Given the description of an element on the screen output the (x, y) to click on. 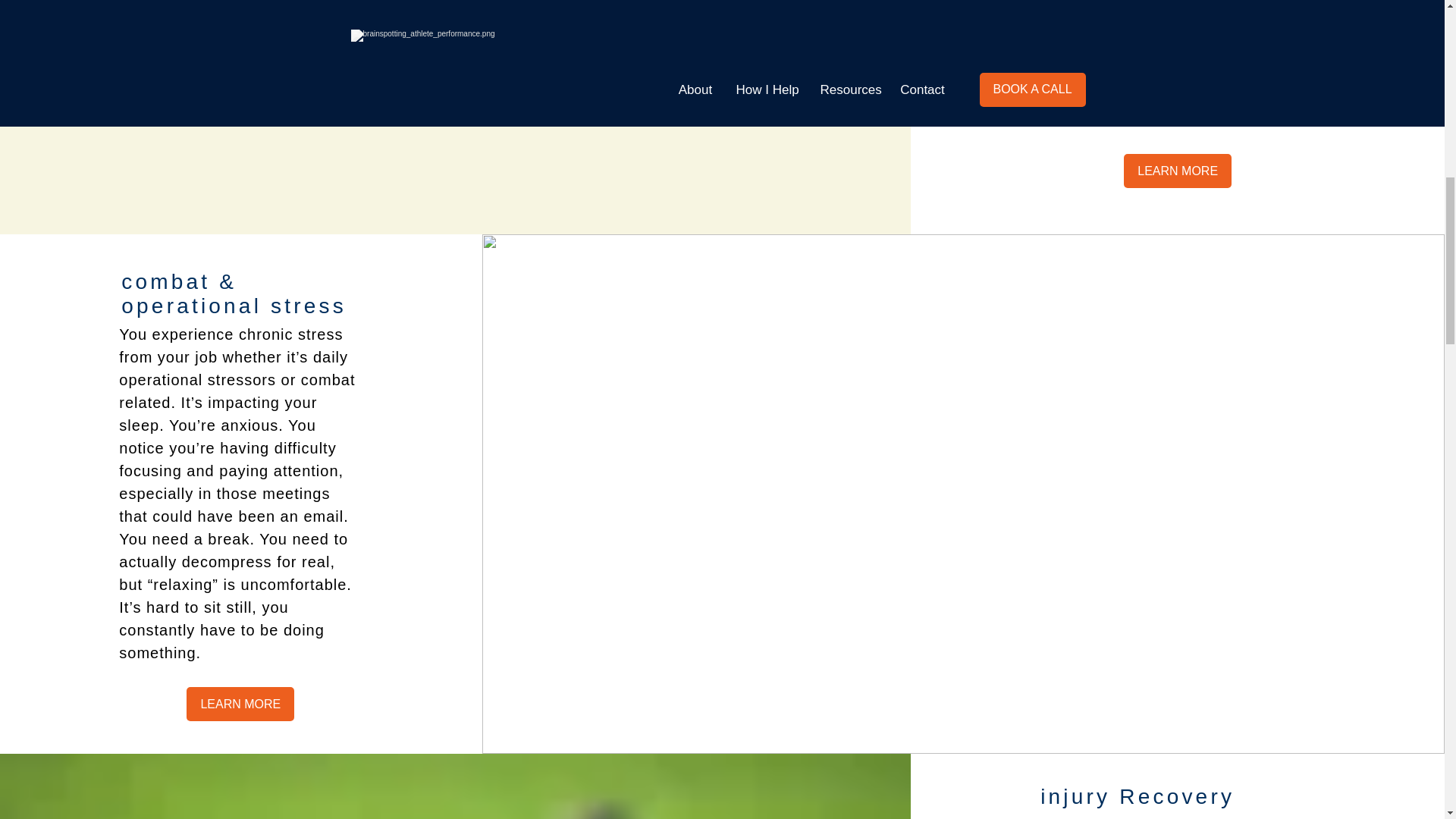
LEARN MORE (240, 704)
LEARN MORE (1177, 170)
